Given the description of an element on the screen output the (x, y) to click on. 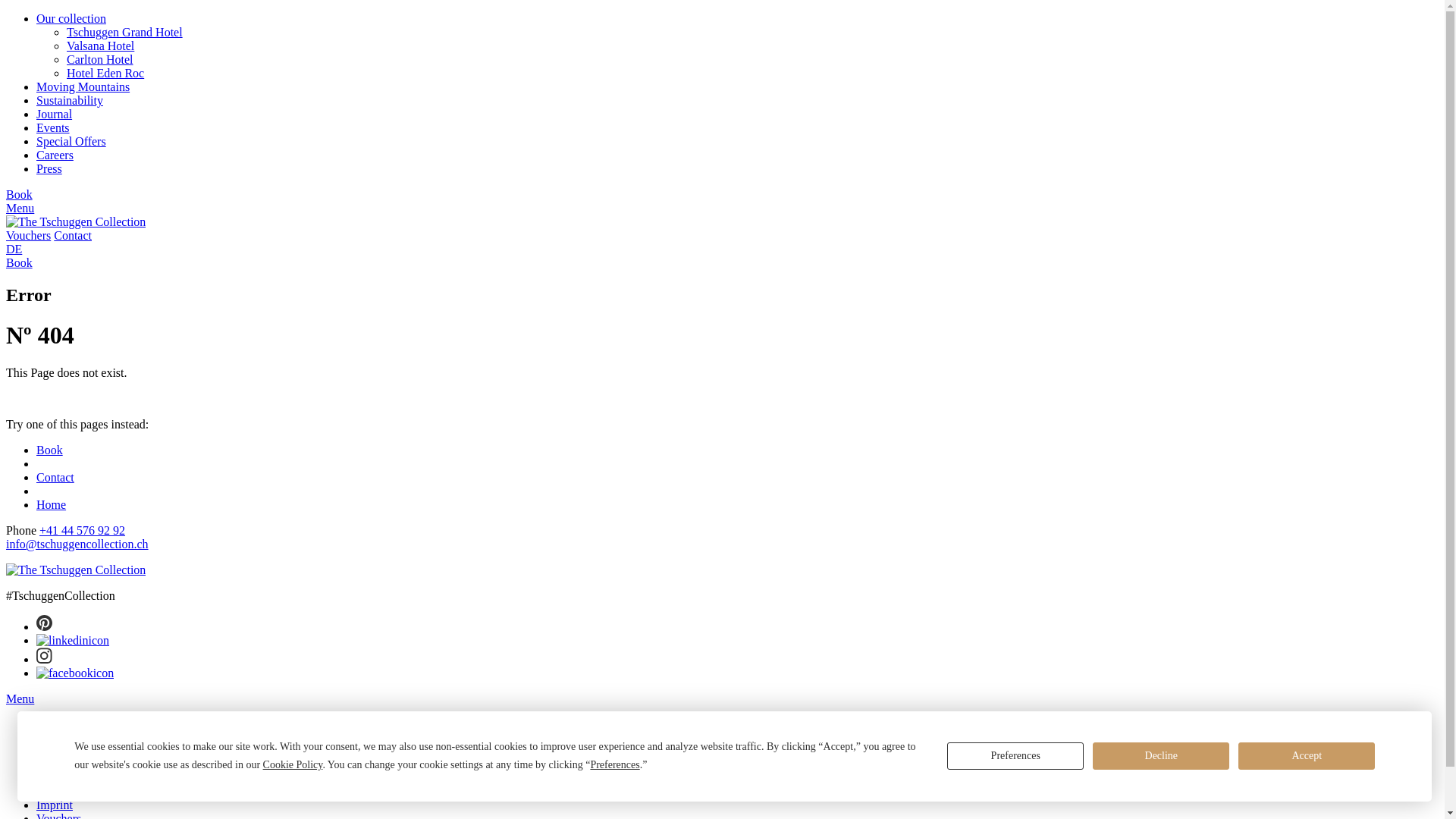
+41 44 576 92 92 Element type: text (82, 530)
Careers Element type: text (54, 724)
Menu Element type: text (20, 698)
Contact Element type: text (55, 476)
Book Element type: text (19, 262)
Home Element type: text (50, 504)
Our collection Element type: text (71, 18)
Imprint Element type: text (54, 804)
Press Element type: text (49, 168)
Accept Element type: text (1306, 755)
Events Element type: text (52, 127)
Book Element type: text (19, 194)
DE Element type: text (13, 248)
Privacy Policy Element type: text (71, 790)
Book Element type: text (49, 449)
Tschuggen Grand Hotel Element type: text (124, 31)
info@tschuggencollection.ch Element type: text (77, 543)
Vouchers Element type: text (28, 235)
Special Offers Element type: text (71, 140)
Decline Element type: text (1160, 755)
Hotel Eden Roc Element type: text (105, 72)
Preferences Element type: text (1015, 755)
Travel Trade Element type: text (67, 751)
Moving Mountains Element type: text (82, 86)
Carlton Hotel Element type: text (99, 59)
Contact Element type: text (72, 235)
Valsana Hotel Element type: text (100, 45)
Contact Element type: text (55, 765)
Press Element type: text (49, 737)
Menu Element type: text (20, 207)
Careers Element type: text (54, 154)
Sustainability Element type: text (69, 100)
Journal Element type: text (54, 113)
